Given the description of an element on the screen output the (x, y) to click on. 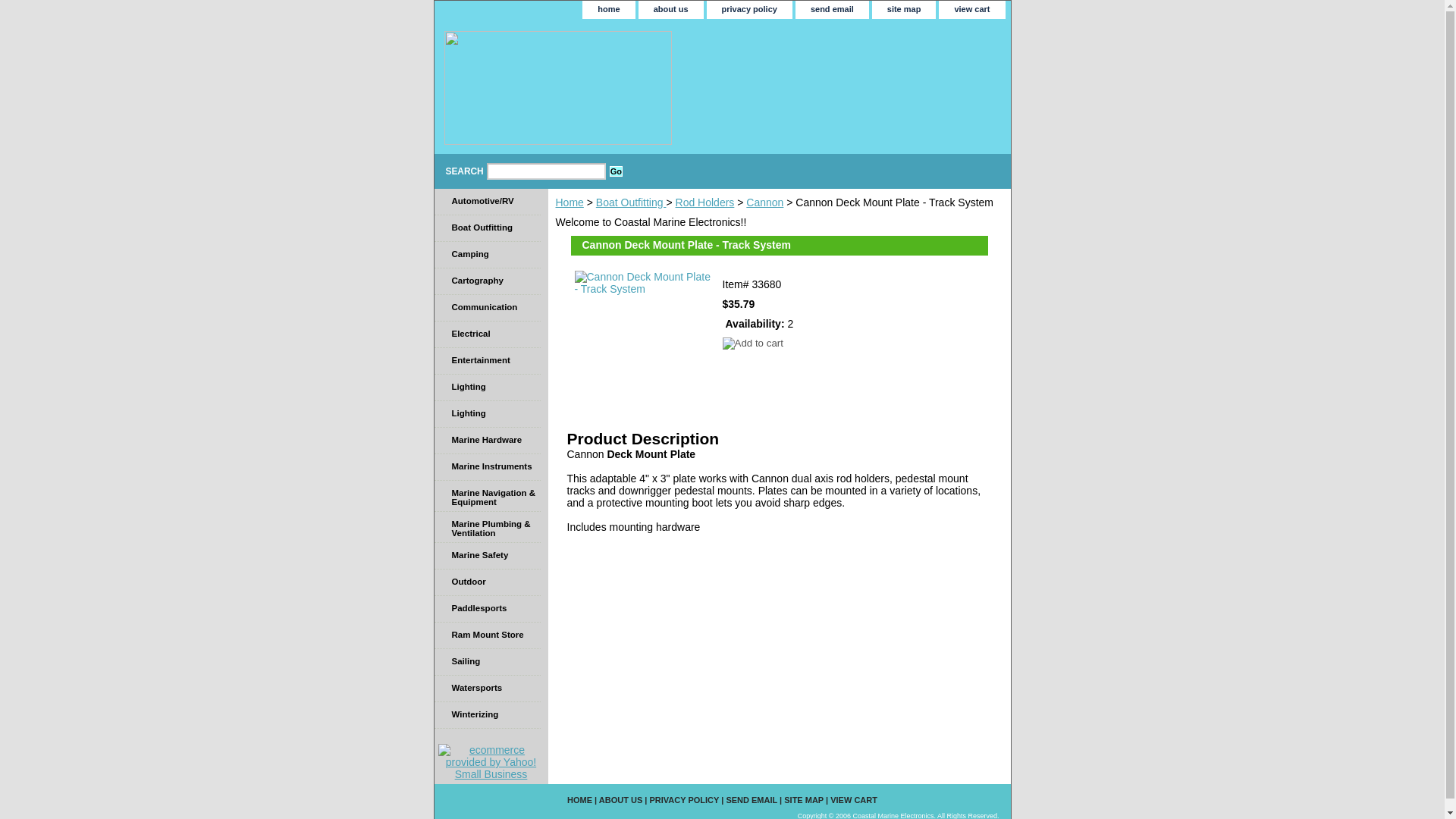
Add to cart (752, 343)
Marine Instruments  (486, 467)
send email (831, 9)
Ram Mount Store (486, 635)
Lighting  (486, 387)
view cart (971, 9)
Ram Mount Store  (486, 635)
Go (616, 171)
Marine Hardware  (486, 440)
Lighting (486, 414)
Paddlesports  (486, 609)
Go (616, 171)
privacy policy (749, 9)
Communication  (486, 307)
SEND EMAIL (751, 799)
